Given the description of an element on the screen output the (x, y) to click on. 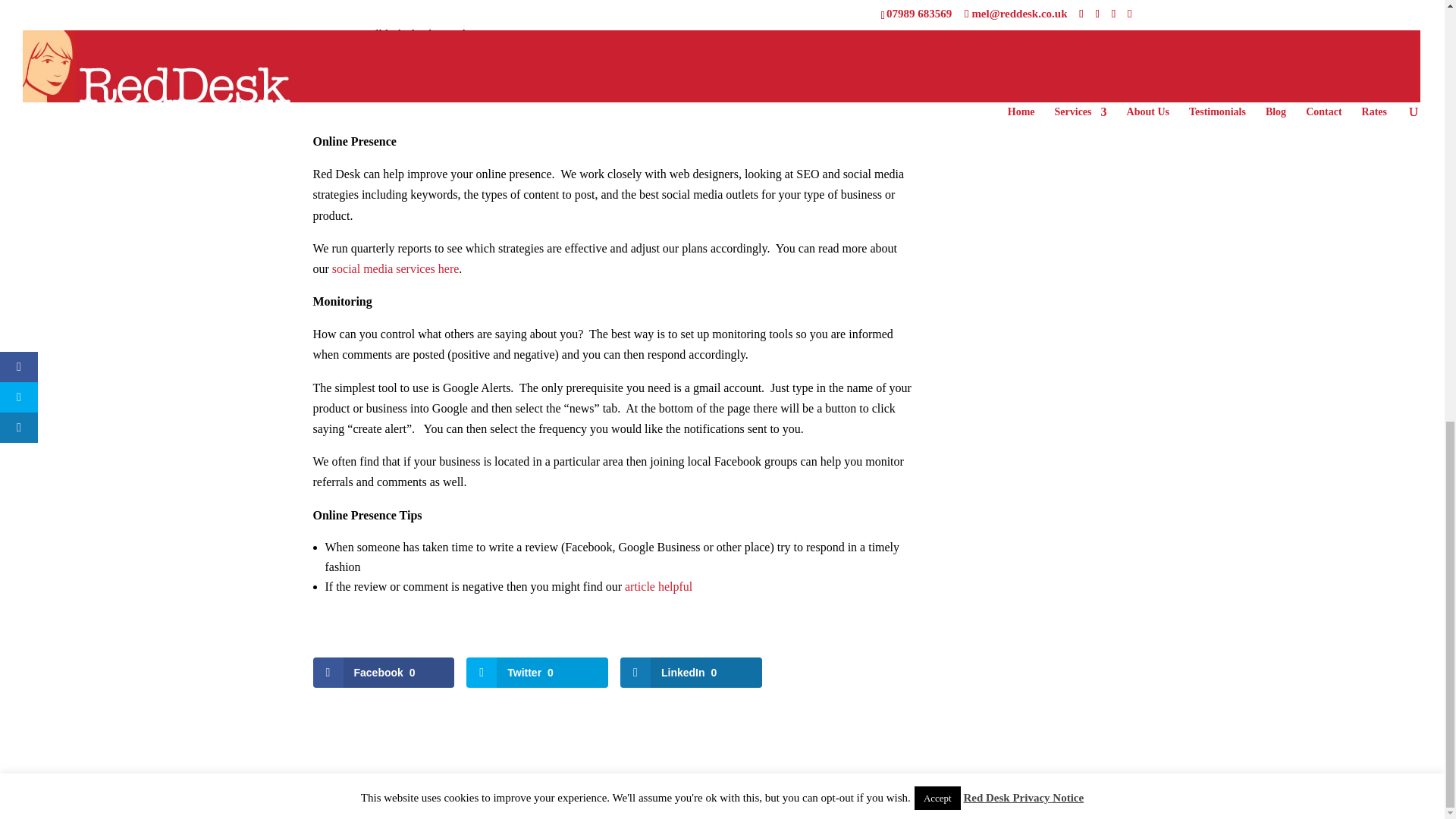
North London Web Design (636, 797)
Red Desk Privacy Notice (509, 797)
